Given the description of an element on the screen output the (x, y) to click on. 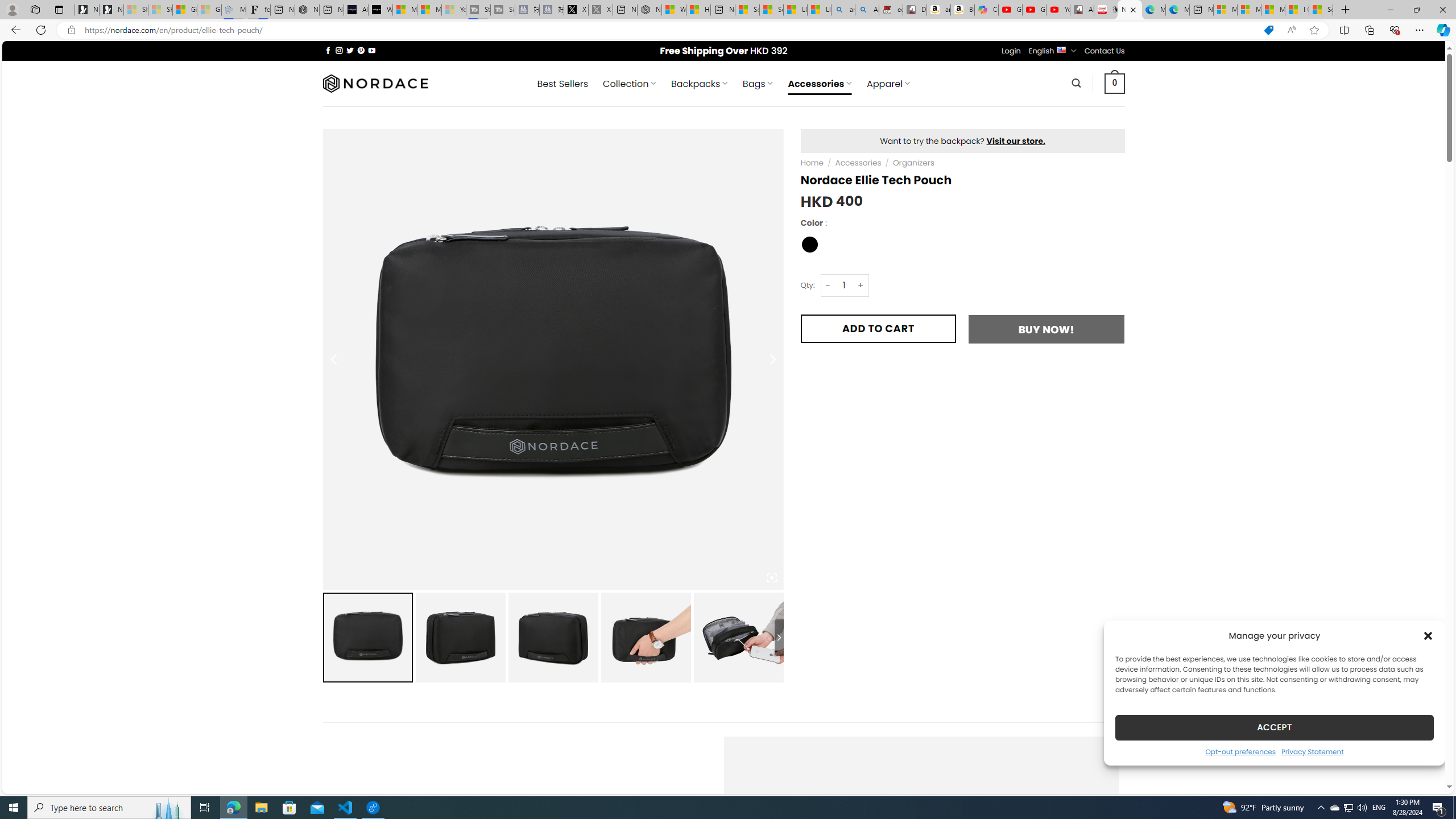
amazon.in/dp/B0CX59H5W7/?tag=gsmcom05-21 (938, 9)
Follow on Facebook (327, 49)
English (1061, 49)
Privacy Statement (1312, 750)
 Best Sellers (562, 83)
ACCEPT (1274, 727)
